Given the description of an element on the screen output the (x, y) to click on. 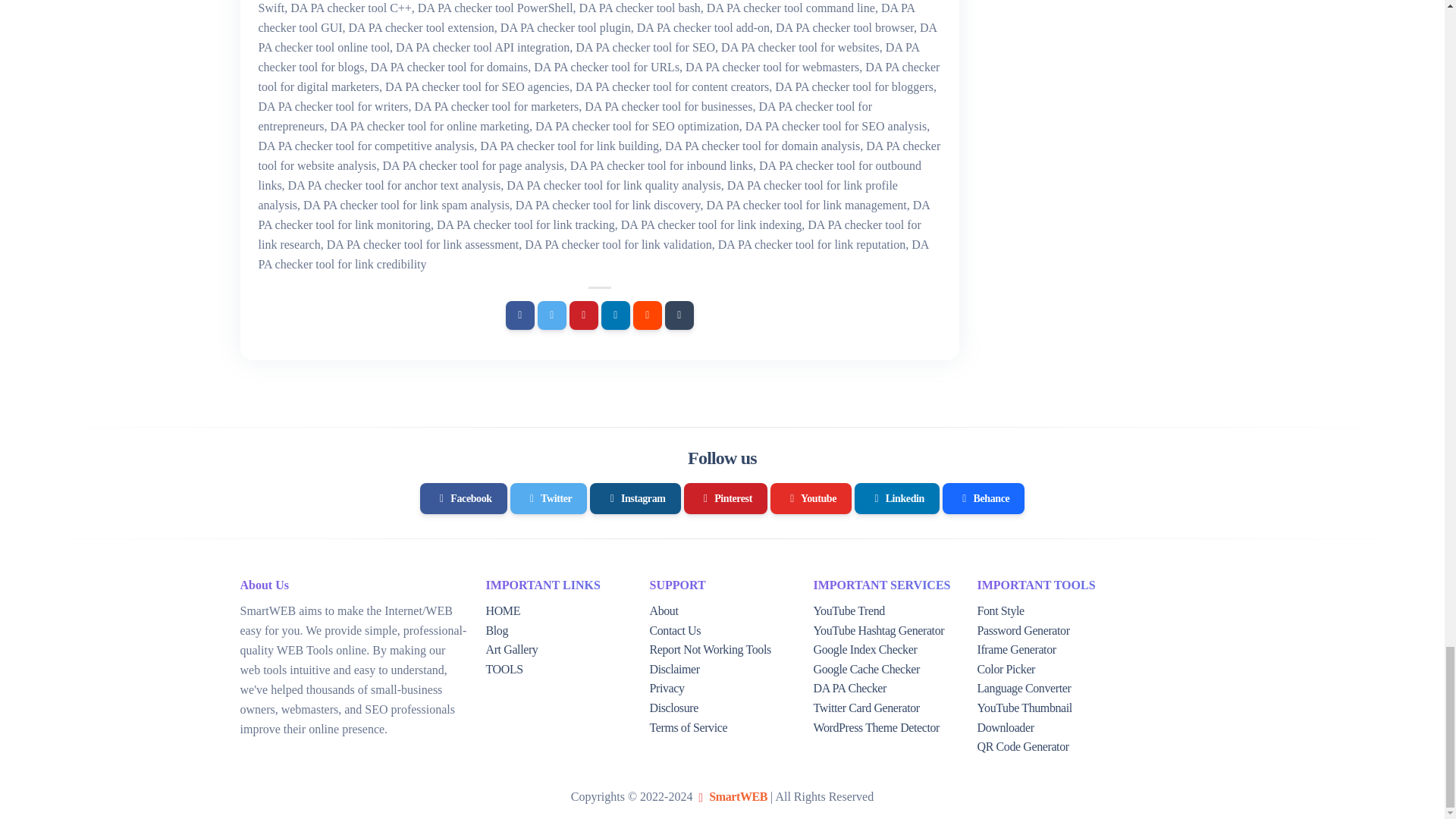
YouTube Hashtag Generator (877, 630)
Google Index Checker (864, 649)
Report Not Working Tools (709, 649)
Contact Us (674, 630)
tools (503, 668)
YouTube Trend (847, 610)
Art Gallery (510, 649)
